Given the description of an element on the screen output the (x, y) to click on. 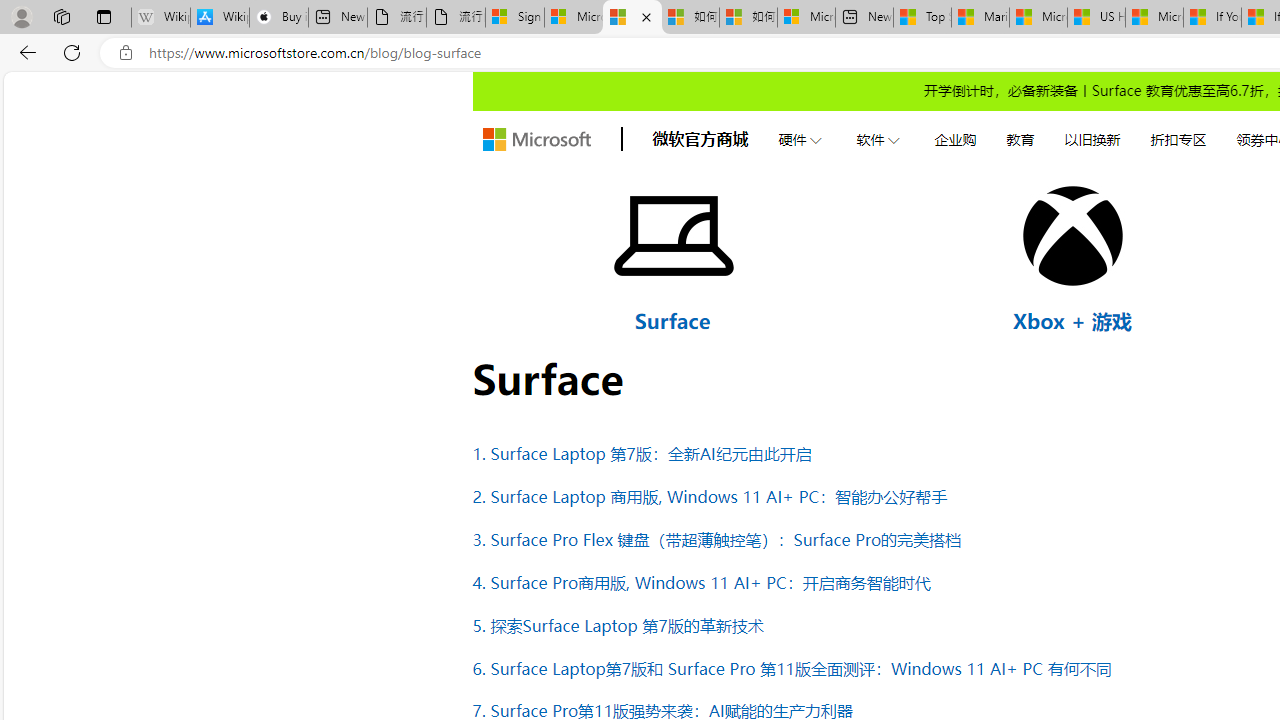
US Heat Deaths Soared To Record High Last Year (1096, 17)
Microsoft (536, 139)
Microsoft Services Agreement (573, 17)
Top Stories - MSN (922, 17)
Surface (671, 320)
Wikipedia - Sleeping (160, 17)
